Given the description of an element on the screen output the (x, y) to click on. 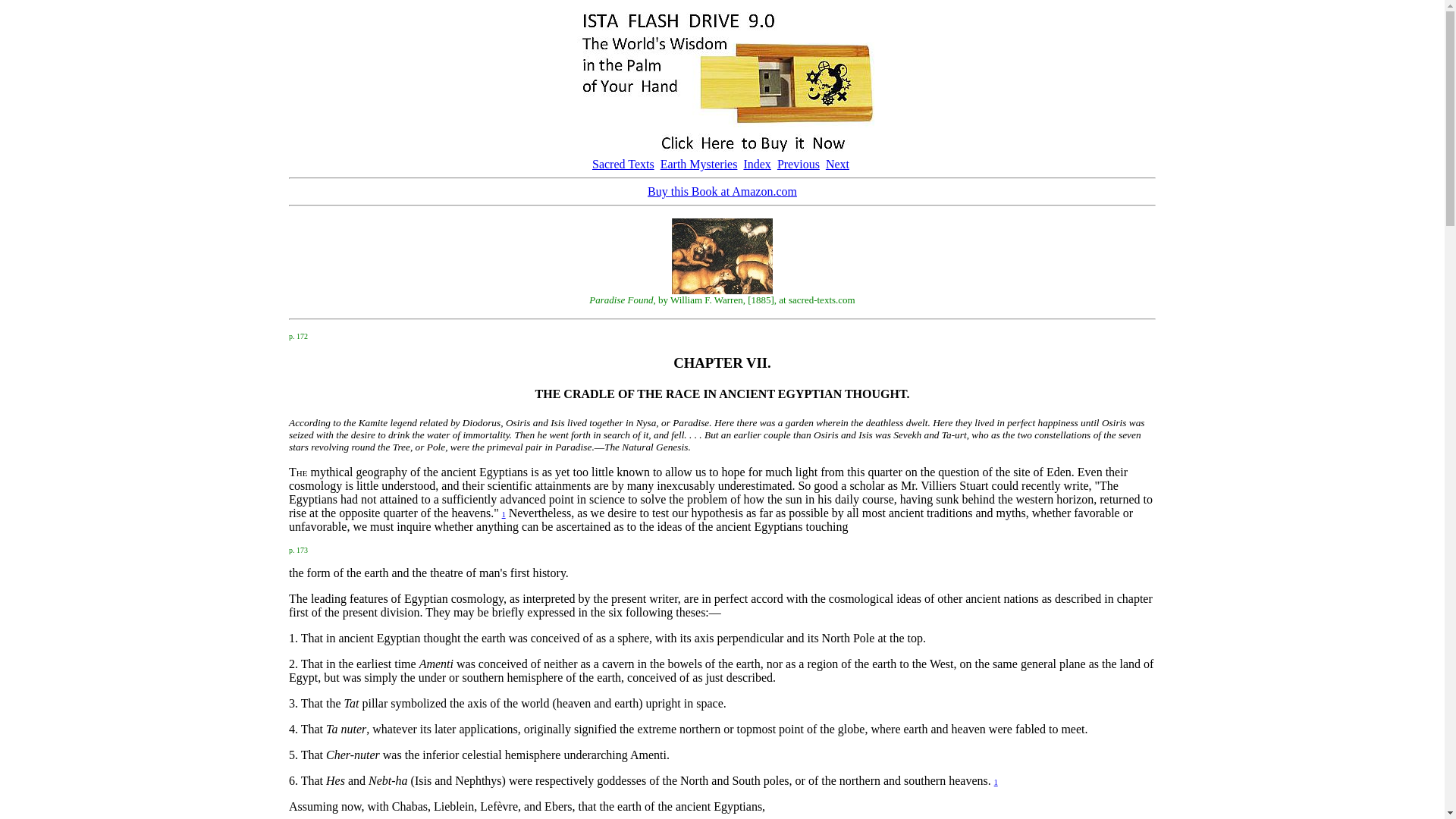
Sacred Texts (622, 164)
p. 172 (297, 334)
Previous (798, 164)
Next (836, 164)
Index (756, 164)
p. 173 (297, 548)
Earth Mysteries (699, 164)
Buy this Book at Amazon.com (721, 191)
